Given the description of an element on the screen output the (x, y) to click on. 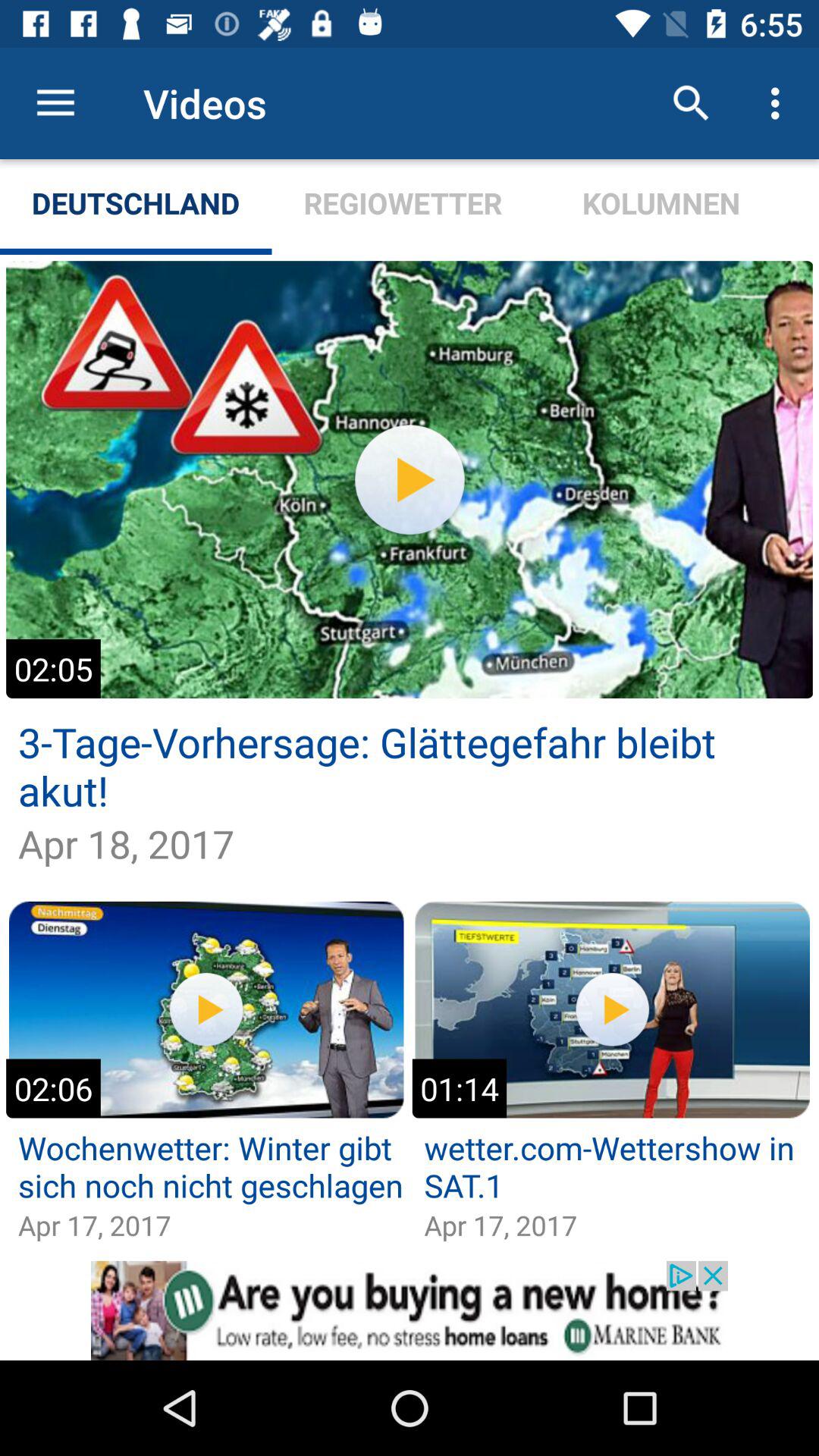
open advertisement (409, 1310)
